Given the description of an element on the screen output the (x, y) to click on. 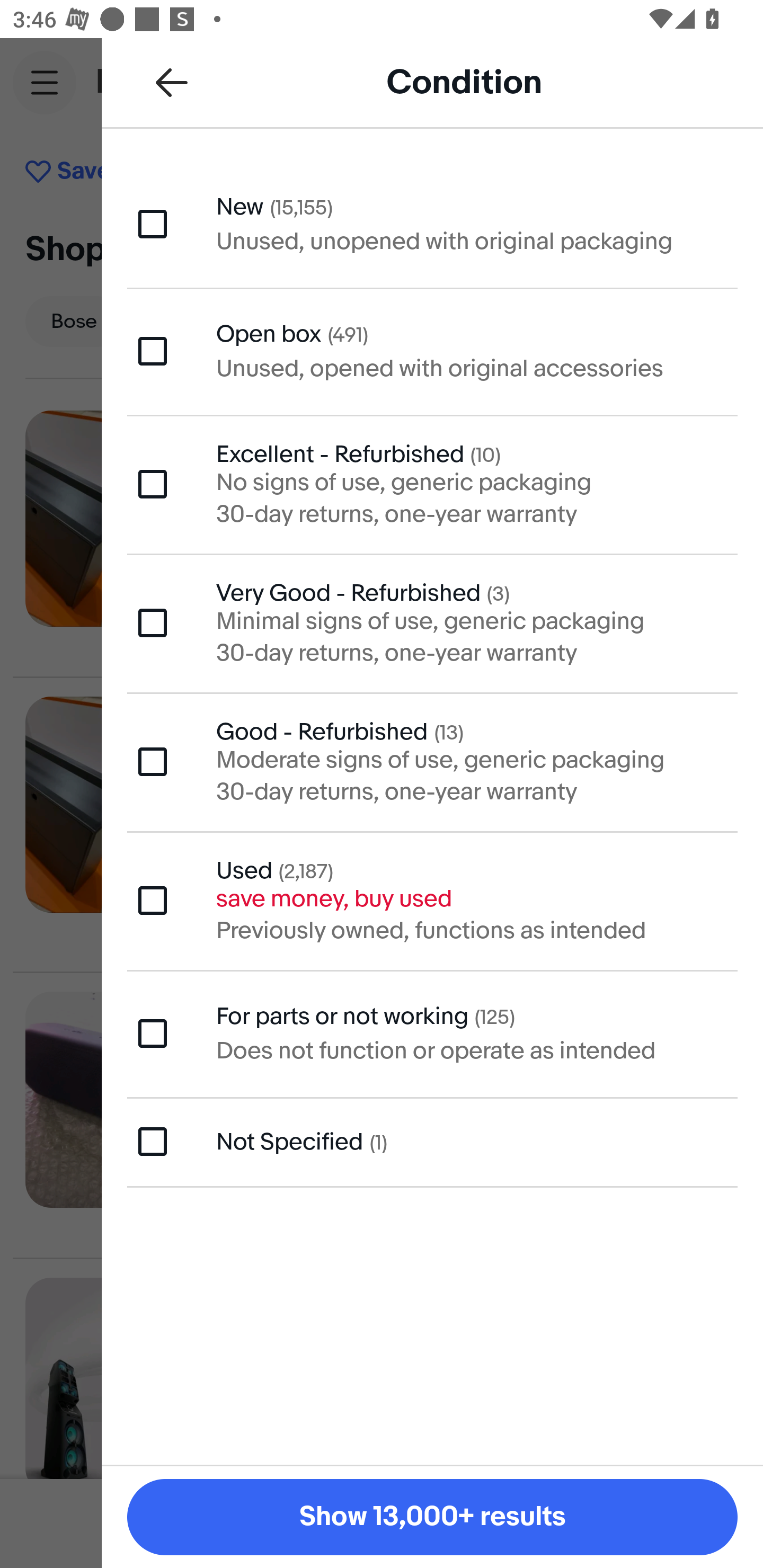
Back to all refinements (171, 81)
Not Specified (1) (432, 1141)
Show 13,000+ results (432, 1516)
